Given the description of an element on the screen output the (x, y) to click on. 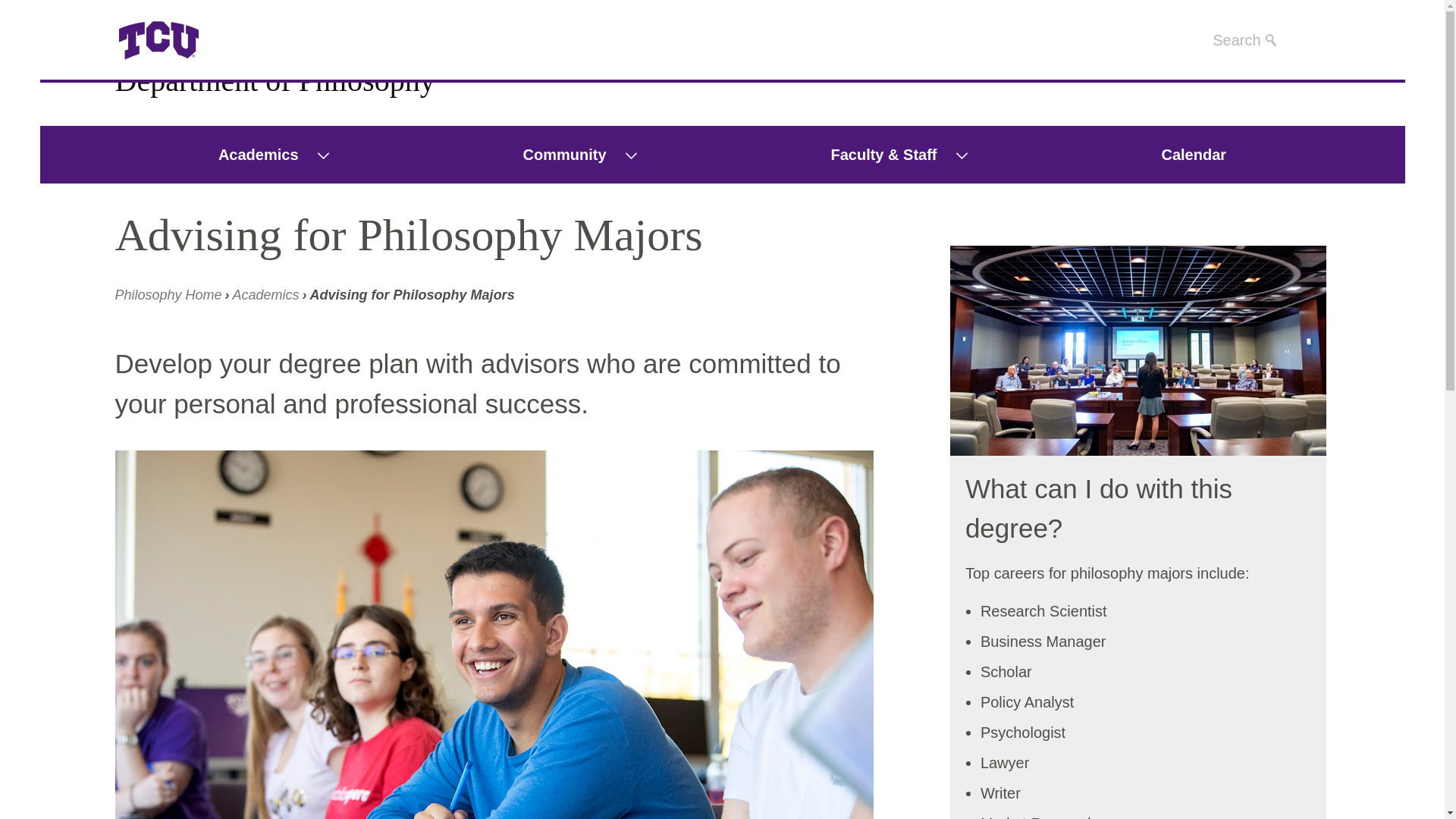
AddRan College of Liberal Arts (219, 41)
Academics (249, 154)
Academics (265, 294)
Community (555, 154)
AddRan College of Liberal Arts (168, 294)
Department of Philosophy (275, 80)
Philosophy Home (168, 294)
Calendar (1192, 154)
